Given the description of an element on the screen output the (x, y) to click on. 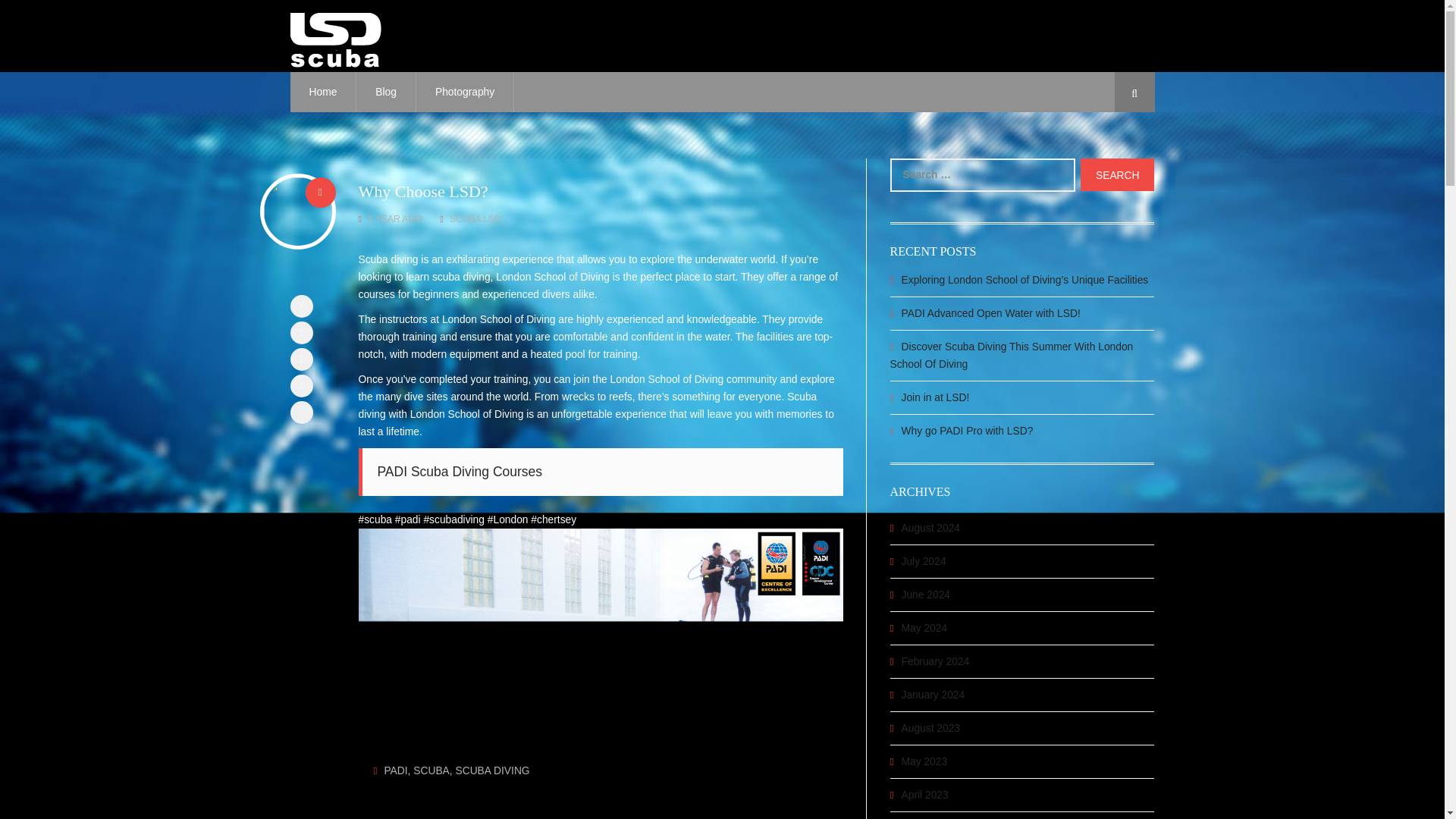
Search (1117, 174)
Why go PADI Pro with LSD? (1021, 426)
Home (322, 92)
July 2024 (923, 561)
June 2024 (925, 594)
SCUBA (431, 770)
April 2023 (925, 794)
Search (1117, 174)
Photography (464, 92)
August 2023 (930, 727)
